Given the description of an element on the screen output the (x, y) to click on. 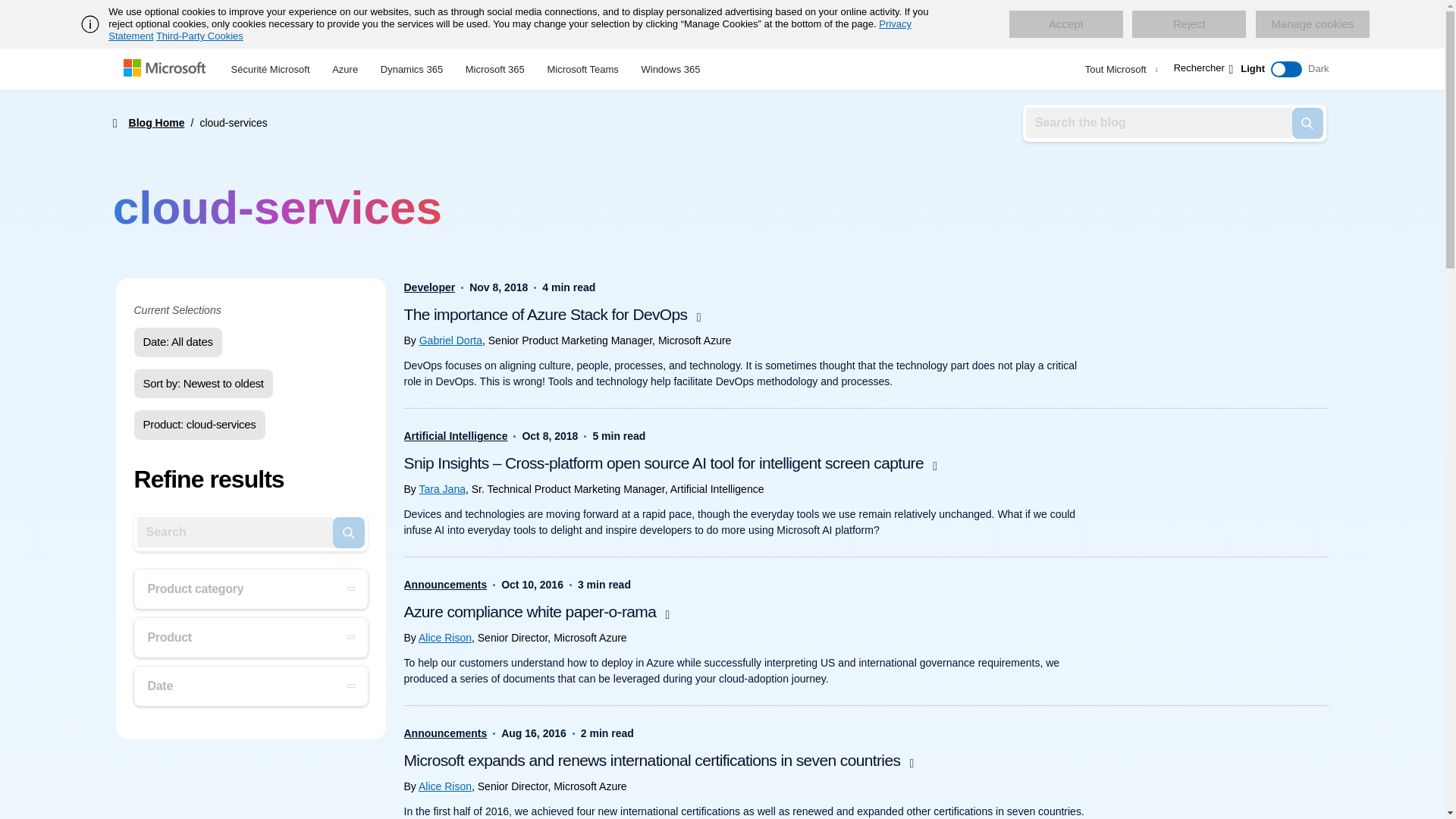
Tout Microsoft (1119, 69)
Microsoft (167, 69)
Dynamics 365 (411, 67)
Microsoft 365 (494, 67)
Reject (1189, 23)
Manage cookies (1312, 23)
Privacy Statement (509, 29)
Third-Party Cookies (199, 35)
Azure (344, 67)
Microsoft Teams (582, 67)
Accept (1065, 23)
Windows 365 (669, 67)
